Given the description of an element on the screen output the (x, y) to click on. 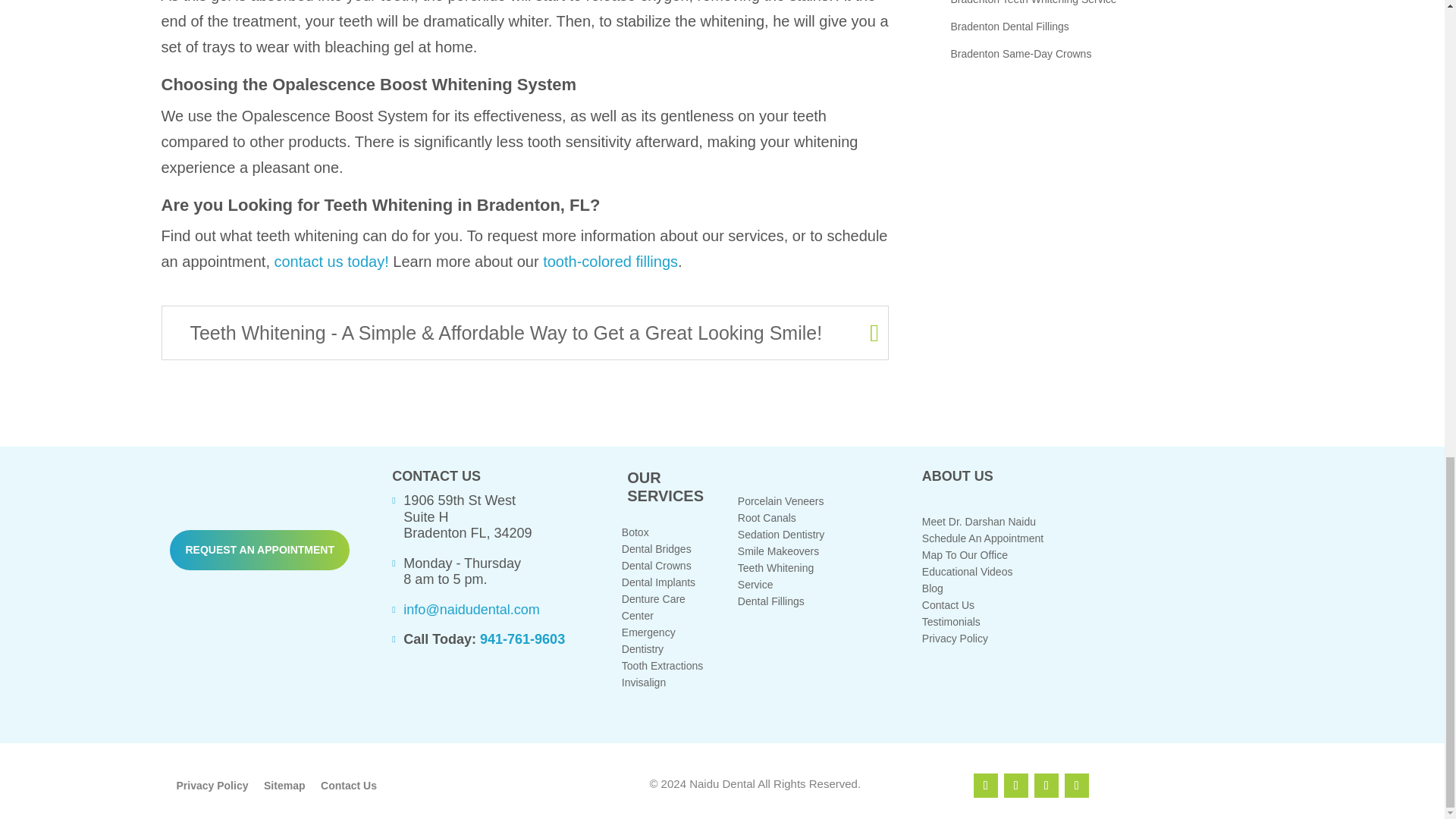
Follow on Instagram (1045, 785)
Follow on Twitter (1015, 785)
Follow on Facebook (985, 785)
